Given the description of an element on the screen output the (x, y) to click on. 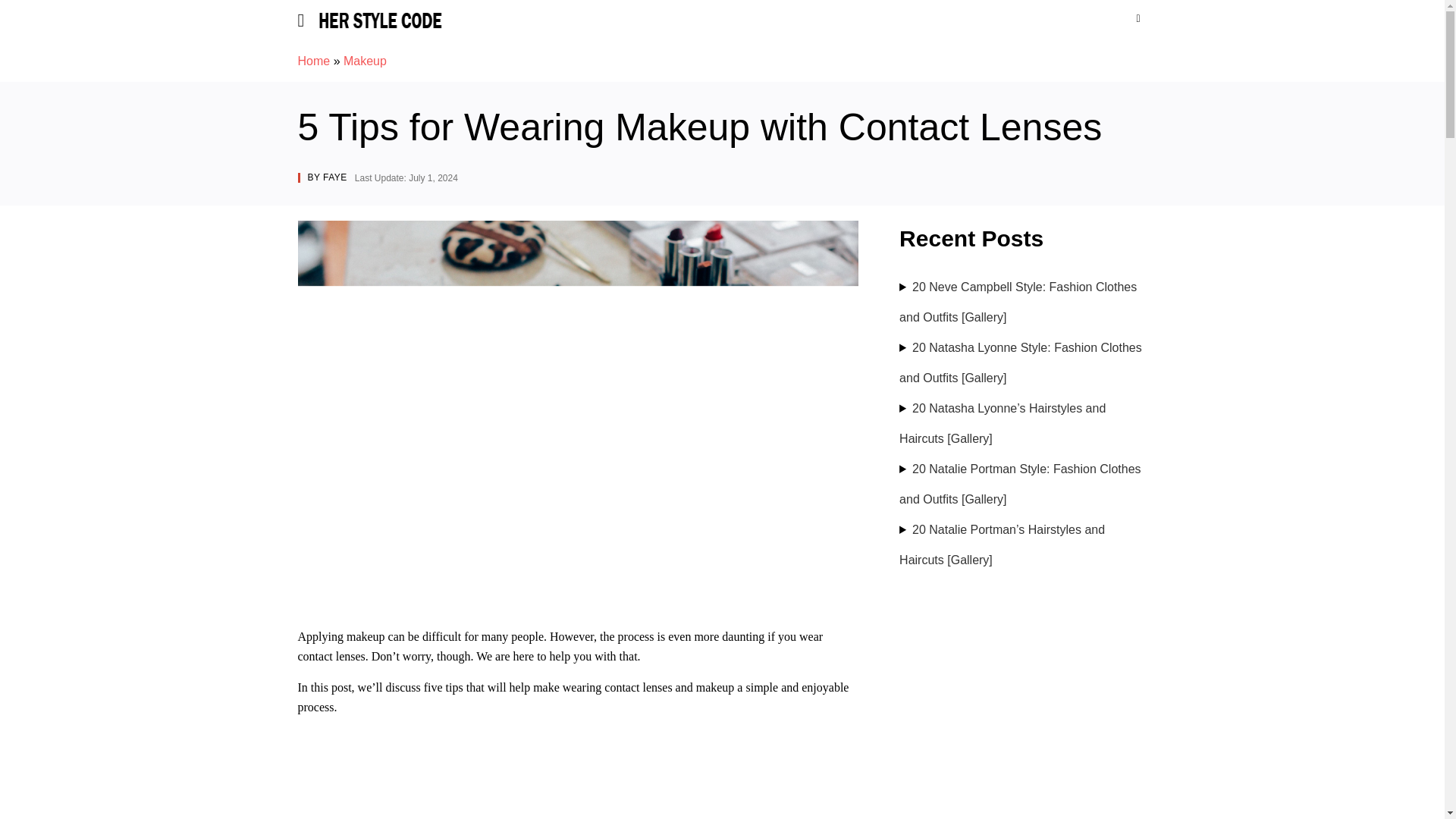
Home (313, 60)
Makeup (365, 60)
